Given the description of an element on the screen output the (x, y) to click on. 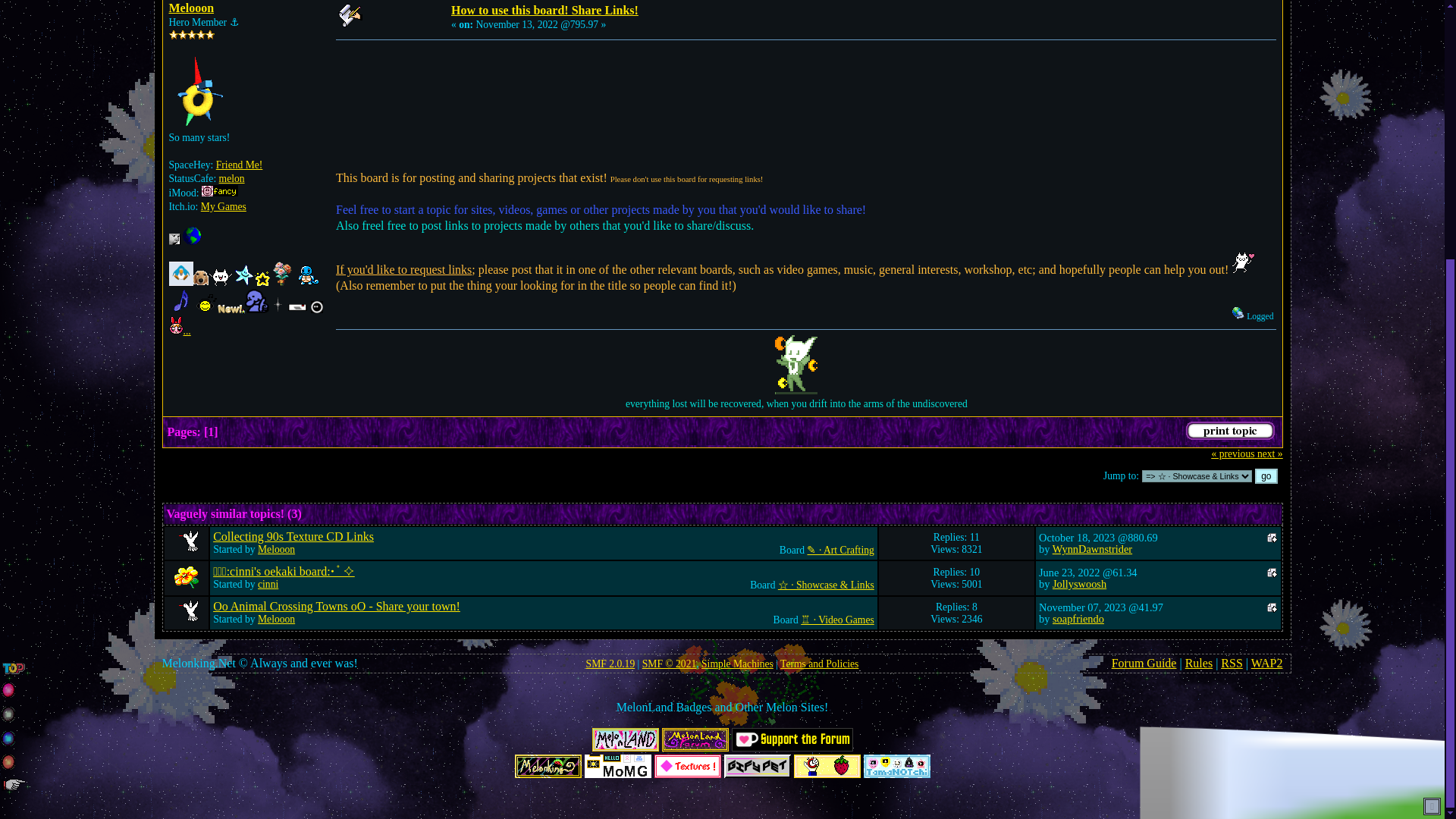
View the profile of Melooon (191, 7)
melon (231, 178)
My Games (223, 206)
Squirtle!!!! given by AniMango (306, 273)
spring 2023! given by xandra (281, 273)
MIDI Warrior given by Inkerlink (180, 300)
Thanks for being rad! given by wetnoodle (180, 273)
First 1000 Members! given by Melooon (242, 274)
go (1265, 476)
a puppy for your travels given by BUTCHBONEZ (200, 278)
